Given the description of an element on the screen output the (x, y) to click on. 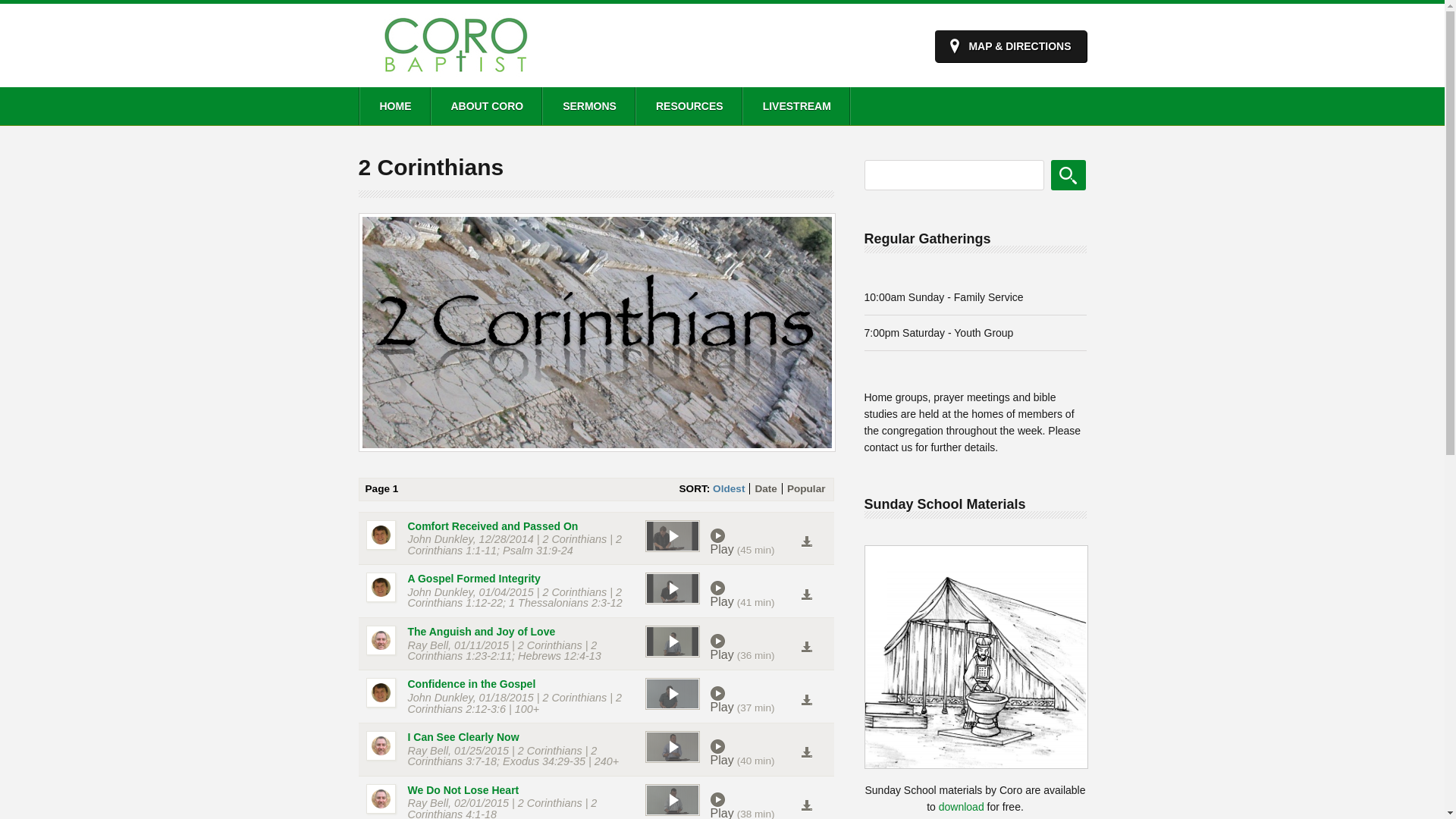
Video Element type: hover (670, 799)
Download Element type: hover (805, 594)
Play(45 min) Element type: text (754, 541)
Date Element type: text (765, 488)
Download Element type: hover (805, 805)
A Gospel Formed Integrity Element type: text (473, 578)
HOME Element type: text (393, 106)
download Element type: text (961, 806)
Download Element type: hover (805, 700)
Play(41 min) Element type: text (754, 594)
ABOUT CORO Element type: text (485, 106)
Comfort Received and Passed On Element type: text (492, 526)
Video Element type: hover (670, 693)
I Can See Clearly Now Element type: text (463, 737)
Popular Element type: text (806, 488)
Video Element type: hover (670, 588)
Play(36 min) Element type: text (754, 647)
We Do Not Lose Heart Element type: text (463, 790)
LIVESTREAM Element type: text (795, 106)
SERMONS Element type: text (588, 106)
RESOURCES Element type: text (688, 106)
Coromandel Baptist Church Element type: hover (454, 74)
Video Element type: hover (670, 641)
Download Element type: hover (805, 646)
Play(37 min) Element type: text (754, 699)
Download Element type: hover (805, 752)
Search Element type: text (1068, 175)
Download Element type: hover (805, 541)
Video Element type: hover (670, 536)
Play(40 min) Element type: text (754, 752)
The Anguish and Joy of Love Element type: text (481, 631)
Confidence in the Gospel Element type: text (471, 683)
Video Element type: hover (670, 746)
MAP & DIRECTIONS Element type: text (1010, 46)
